Given the description of an element on the screen output the (x, y) to click on. 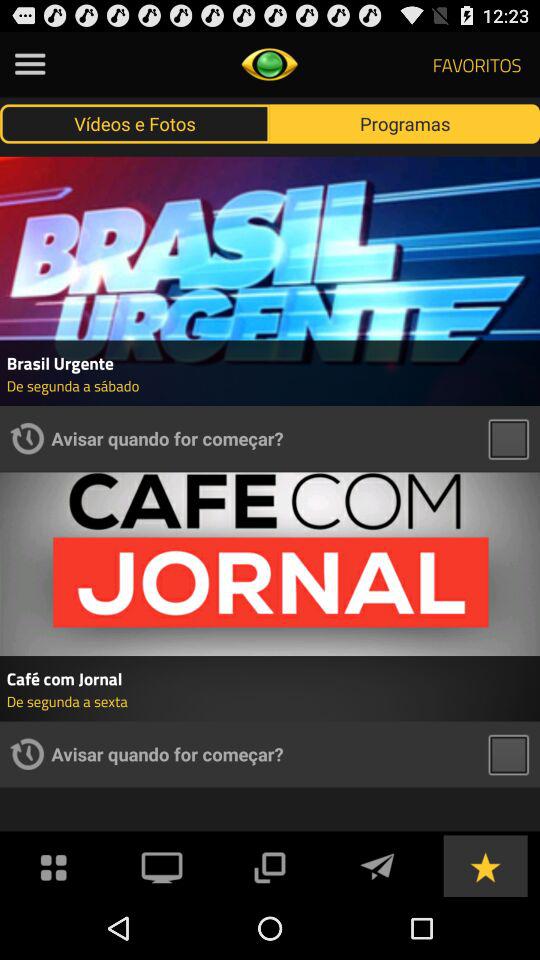
choose the item to the left of avisar quando for item (27, 438)
